Given the description of an element on the screen output the (x, y) to click on. 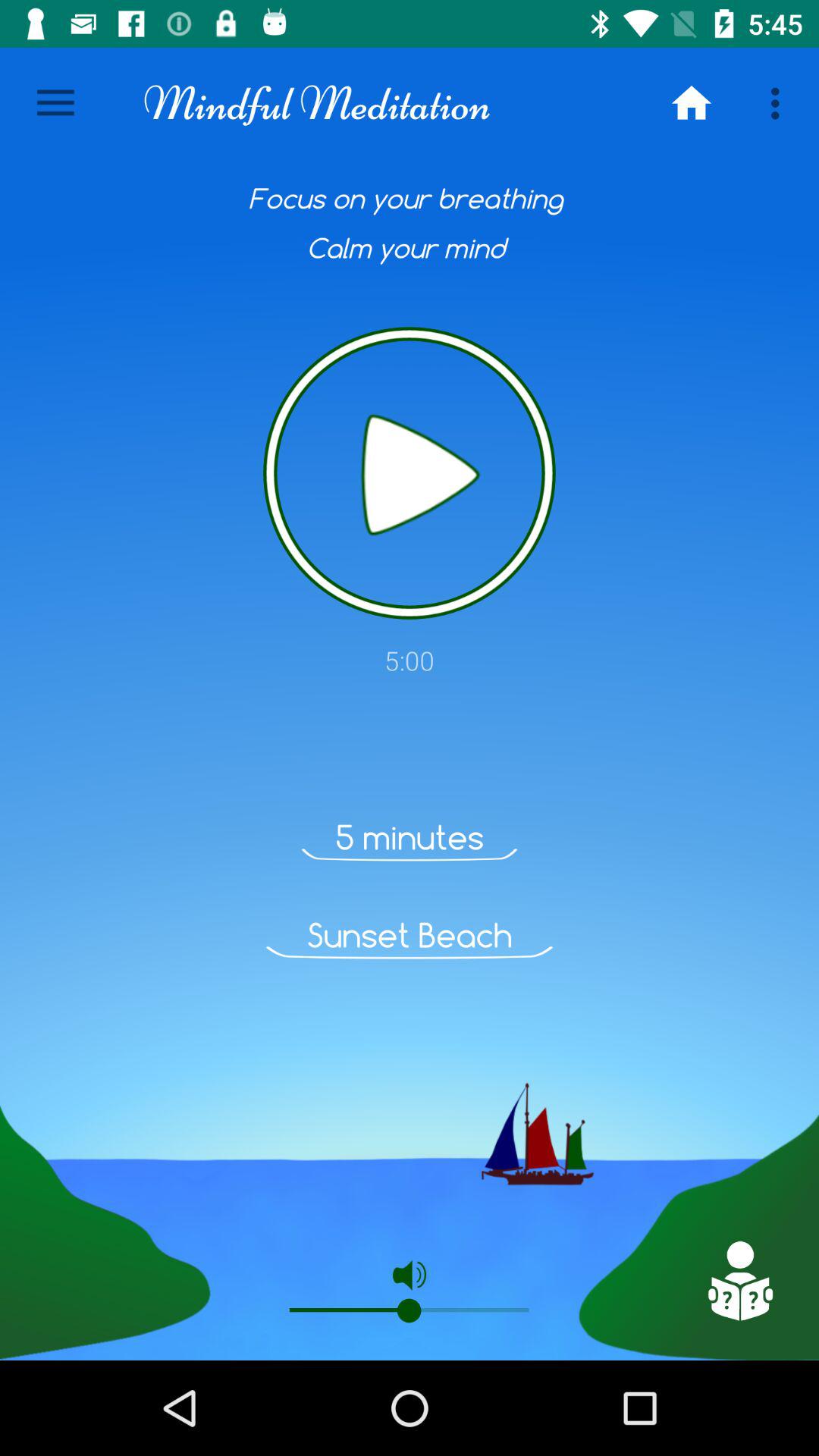
press item to the right of the mindful meditation item (691, 103)
